Given the description of an element on the screen output the (x, y) to click on. 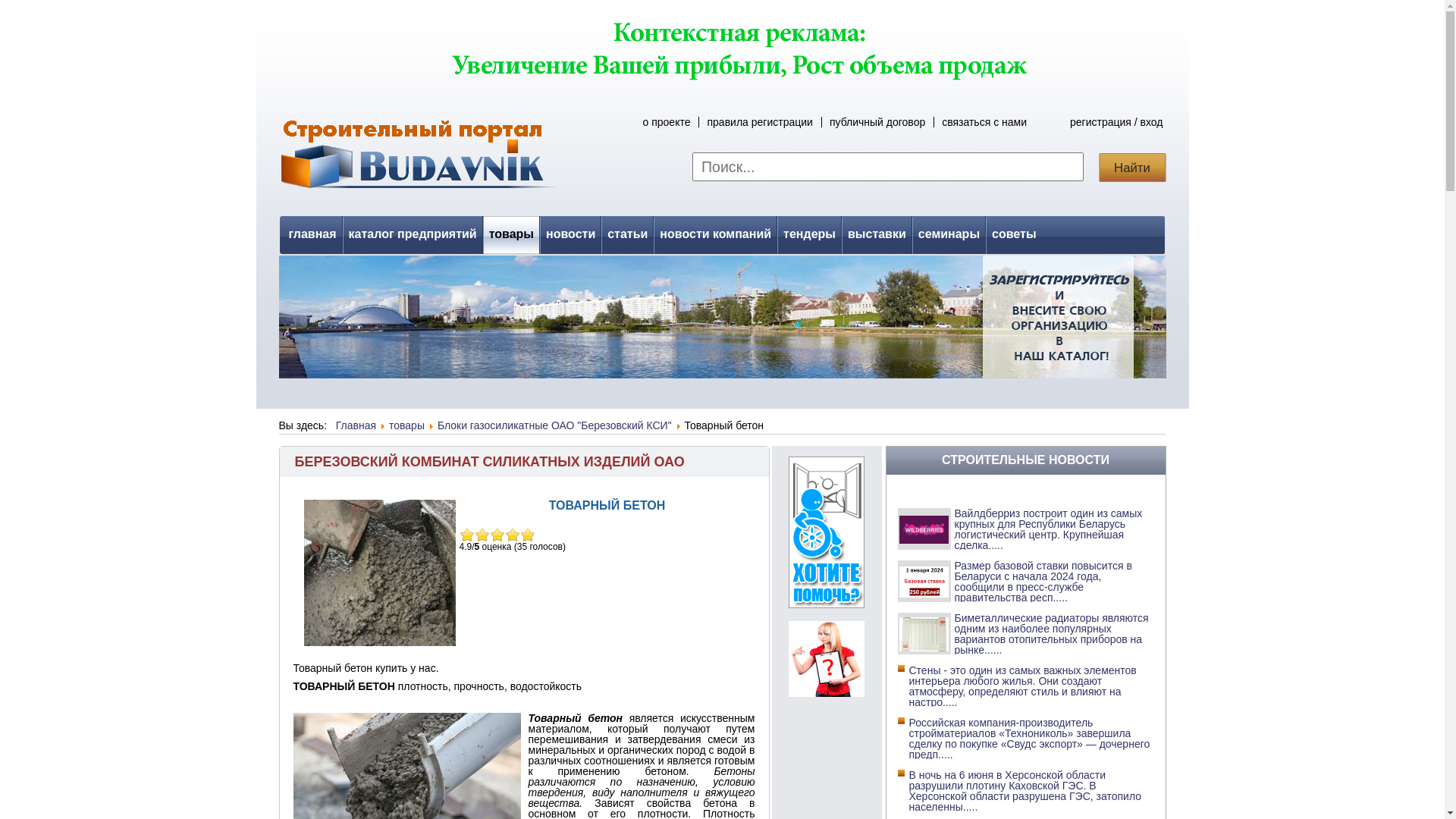
Web Element type: hover (826, 693)
